Given the description of an element on the screen output the (x, y) to click on. 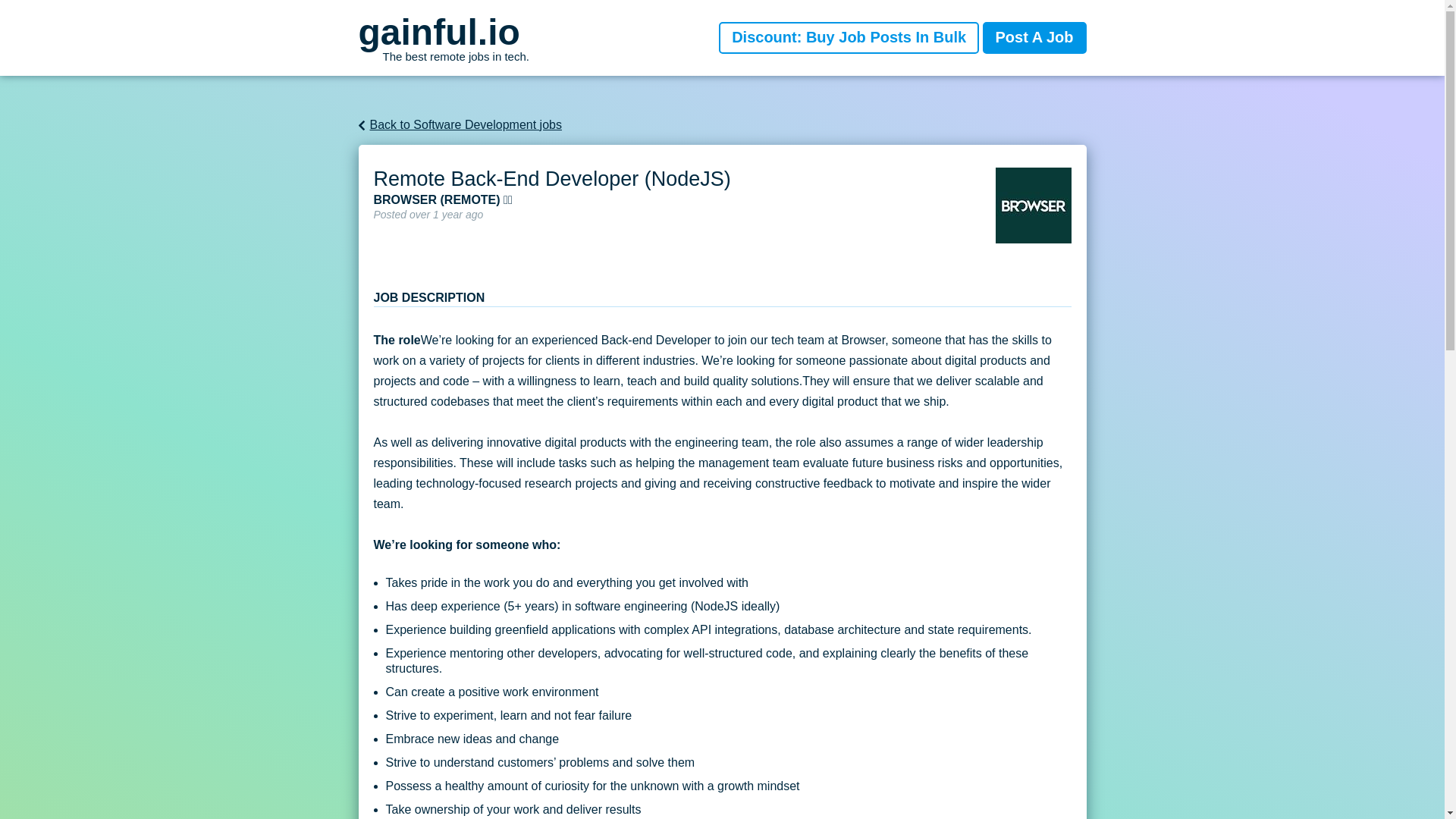
Discount: Buy Job Posts In Bulk (848, 38)
Post A Job (1034, 38)
Back to Software Development jobs (443, 37)
